Given the description of an element on the screen output the (x, y) to click on. 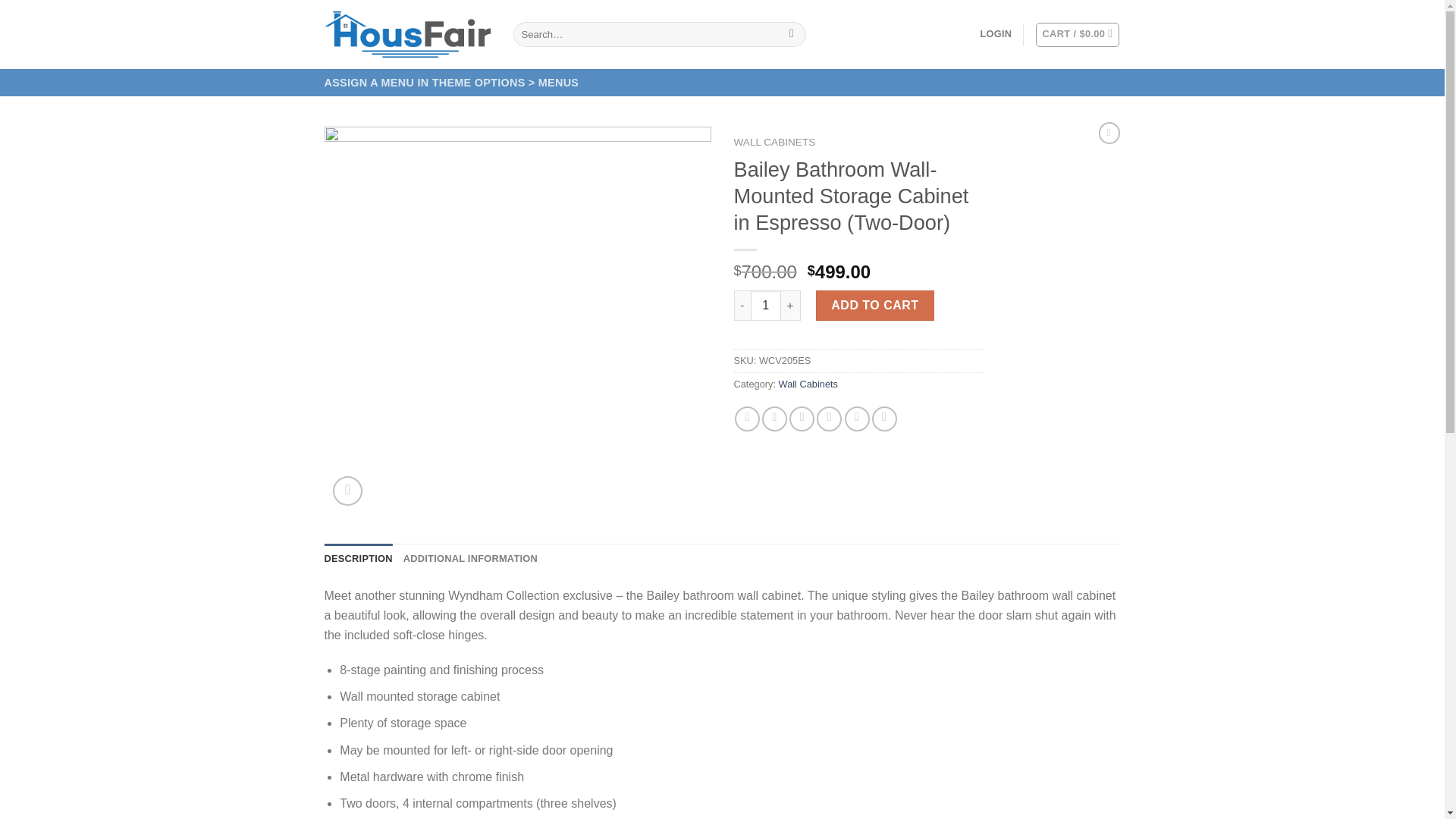
Qty (765, 305)
Wall Cabinets (808, 383)
LOGIN (995, 33)
1 (765, 305)
Cart (1077, 34)
DESCRIPTION (358, 558)
WALL CABINETS (774, 142)
ADDITIONAL INFORMATION (470, 558)
HousFair - HousFair (407, 34)
